Given the description of an element on the screen output the (x, y) to click on. 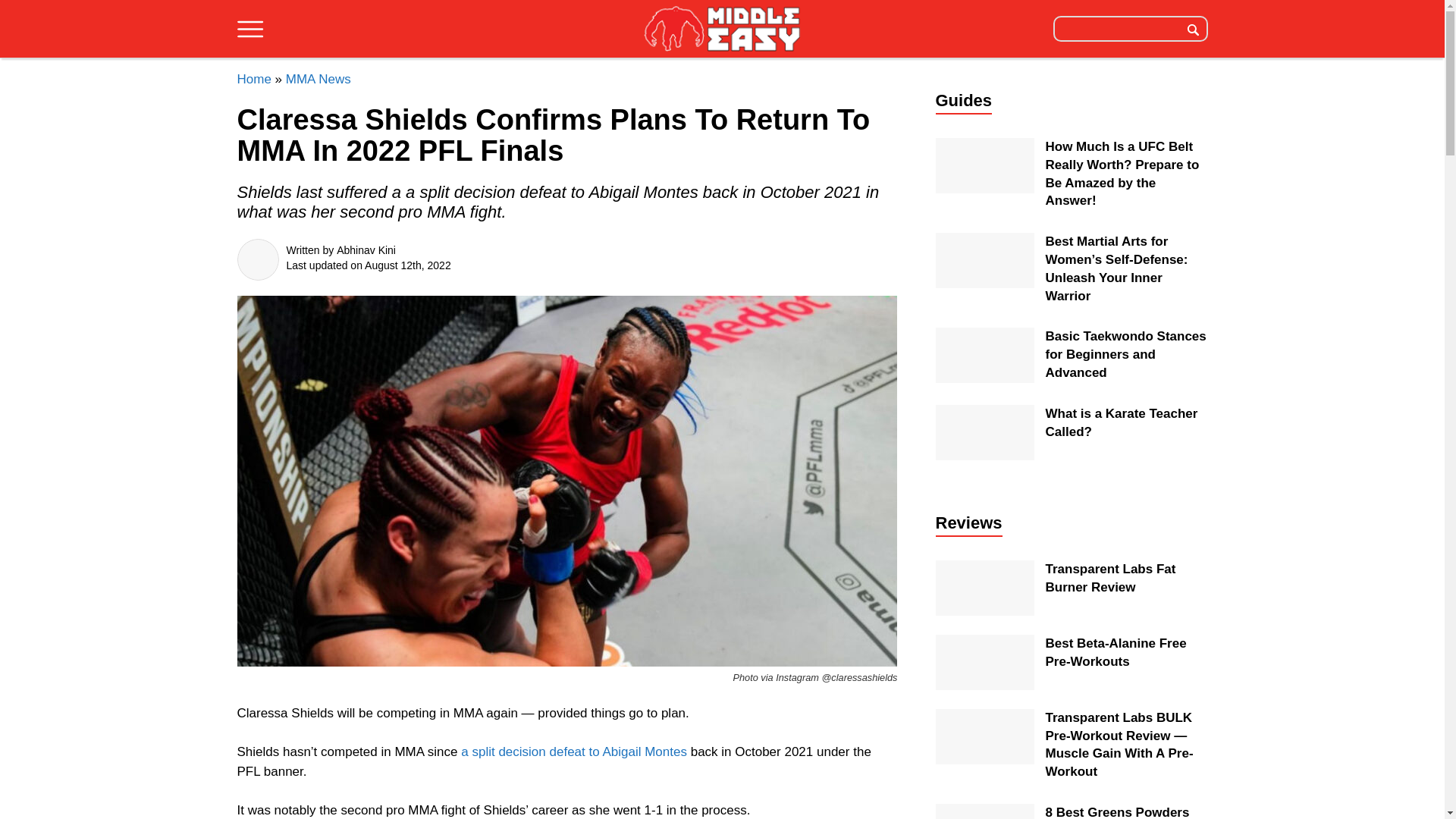
MiddleEasy (721, 29)
MiddleEasy (721, 28)
GO (1193, 28)
